Given the description of an element on the screen output the (x, y) to click on. 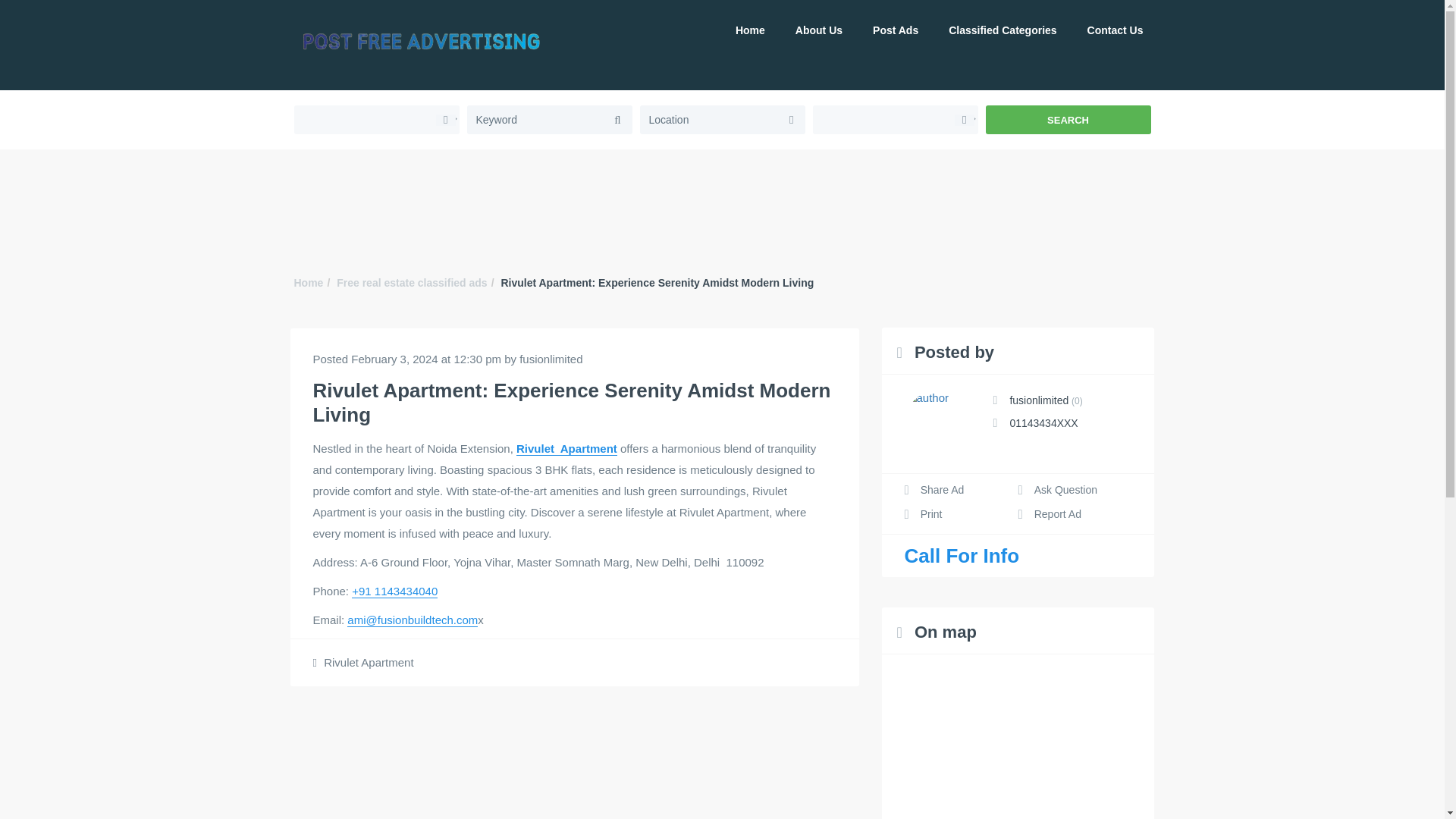
Report Ad (1048, 513)
Home (750, 30)
SEARCH (1068, 119)
About Us (818, 30)
Contact Us (1114, 30)
Share Ad (933, 490)
Rivulet Apartment (368, 662)
Click to reveal number (1043, 422)
Ask Question (1056, 490)
Print (923, 513)
